Given the description of an element on the screen output the (x, y) to click on. 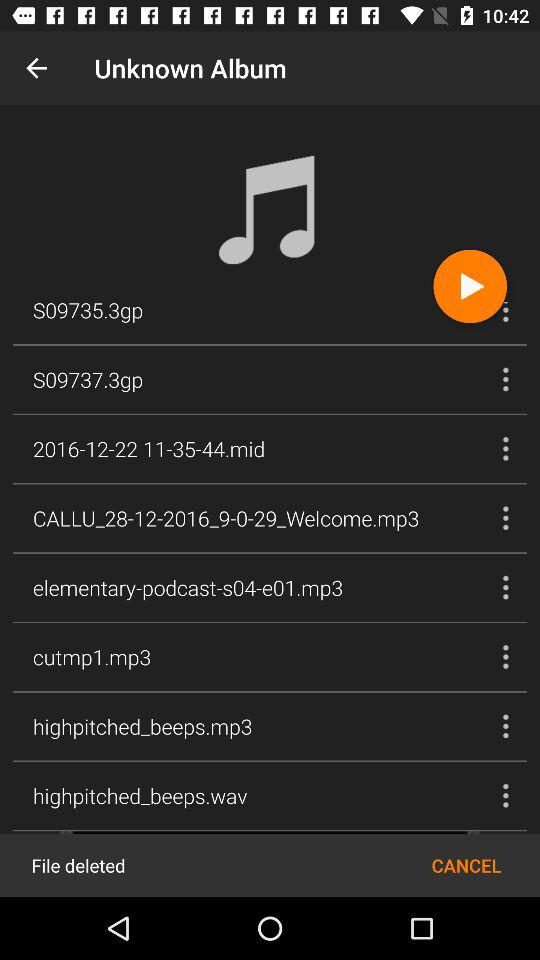
scroll to the cancel icon (466, 864)
